Given the description of an element on the screen output the (x, y) to click on. 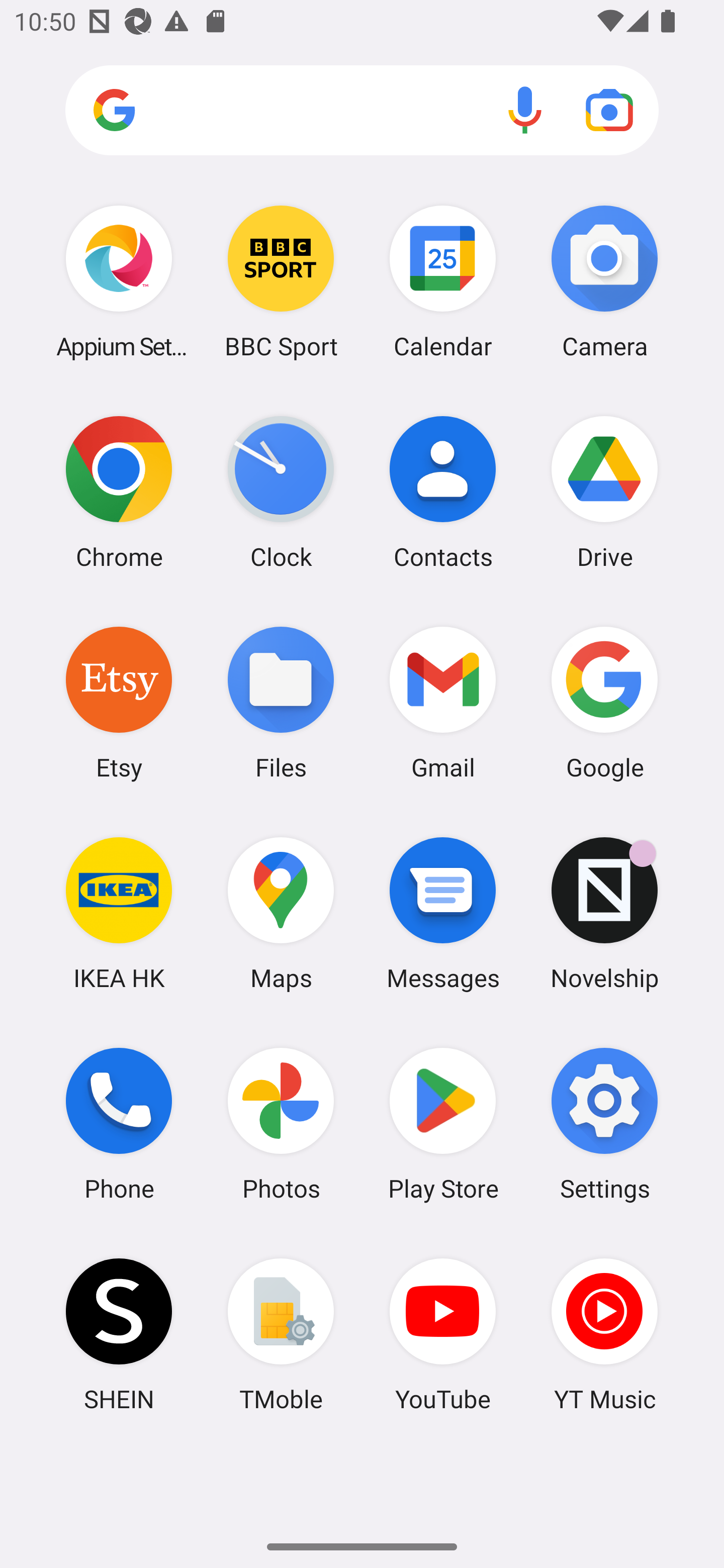
Search apps, web and more (361, 110)
Voice search (524, 109)
Google Lens (608, 109)
Appium Settings (118, 281)
BBC Sport (280, 281)
Calendar (443, 281)
Camera (604, 281)
Chrome (118, 492)
Clock (280, 492)
Contacts (443, 492)
Drive (604, 492)
Etsy (118, 702)
Files (280, 702)
Gmail (443, 702)
Google (604, 702)
IKEA HK (118, 913)
Maps (280, 913)
Messages (443, 913)
Novelship Novelship has 2 notifications (604, 913)
Phone (118, 1124)
Photos (280, 1124)
Play Store (443, 1124)
Settings (604, 1124)
SHEIN (118, 1334)
TMoble (280, 1334)
YouTube (443, 1334)
YT Music (604, 1334)
